Given the description of an element on the screen output the (x, y) to click on. 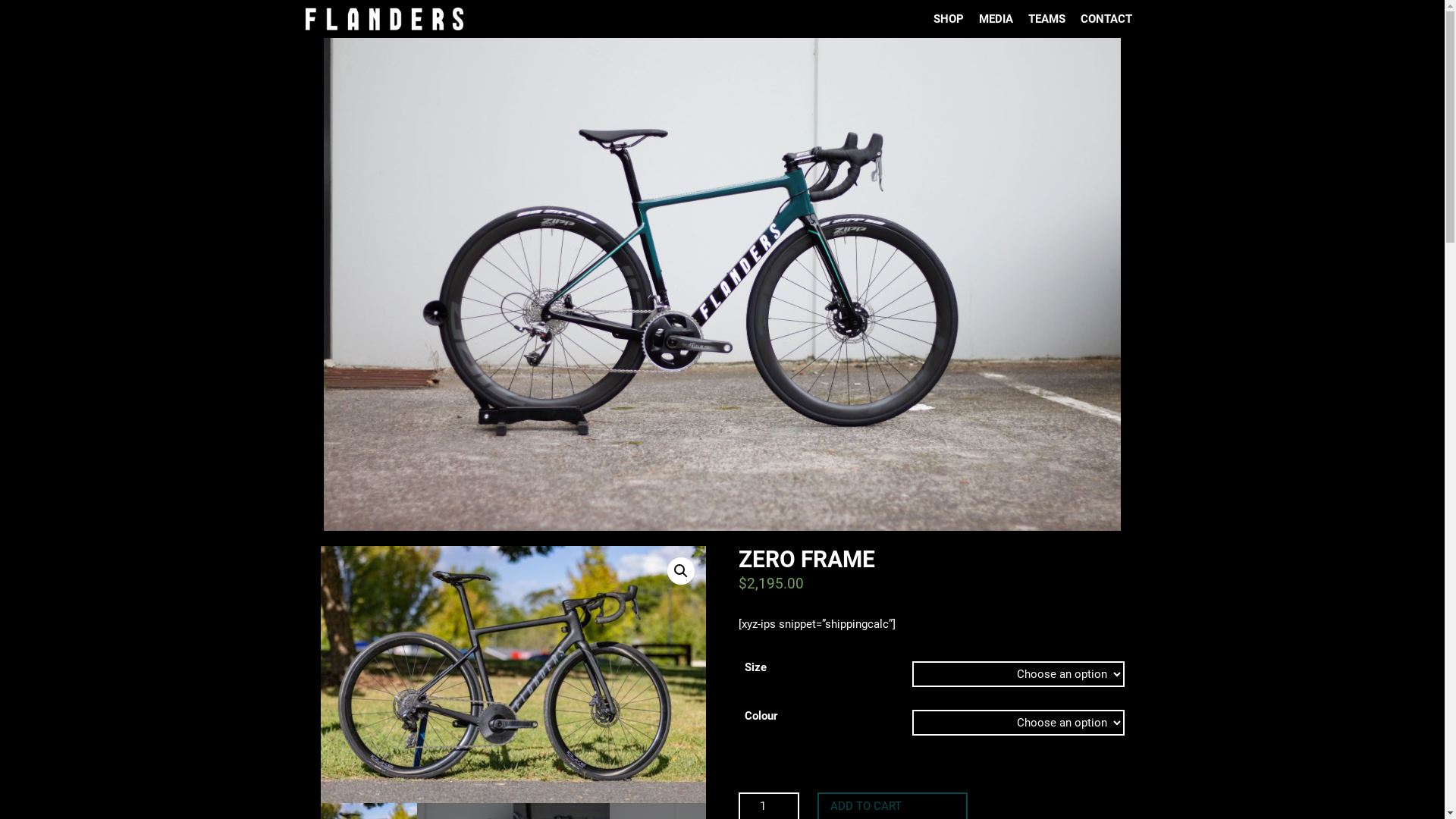
TEAMS Element type: text (1046, 18)
Flanders Cycles Australia Element type: hover (383, 18)
SHOP Element type: text (947, 18)
MEDIA Element type: text (994, 18)
CONTACT Element type: text (1105, 18)
received_1386477415482125 Element type: hover (513, 674)
